Given the description of an element on the screen output the (x, y) to click on. 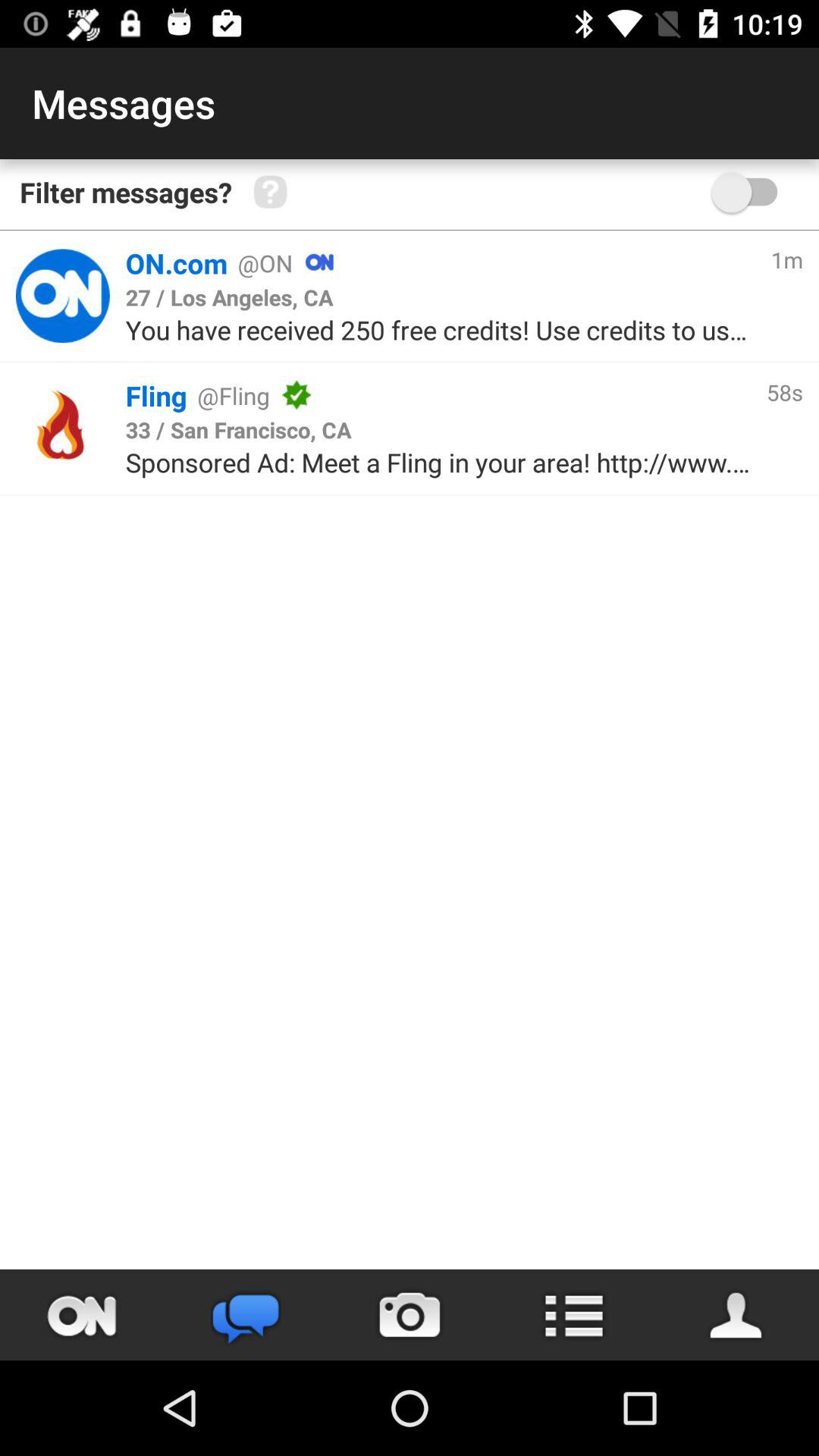
open the item above the 33 san francisco icon (531, 395)
